Given the description of an element on the screen output the (x, y) to click on. 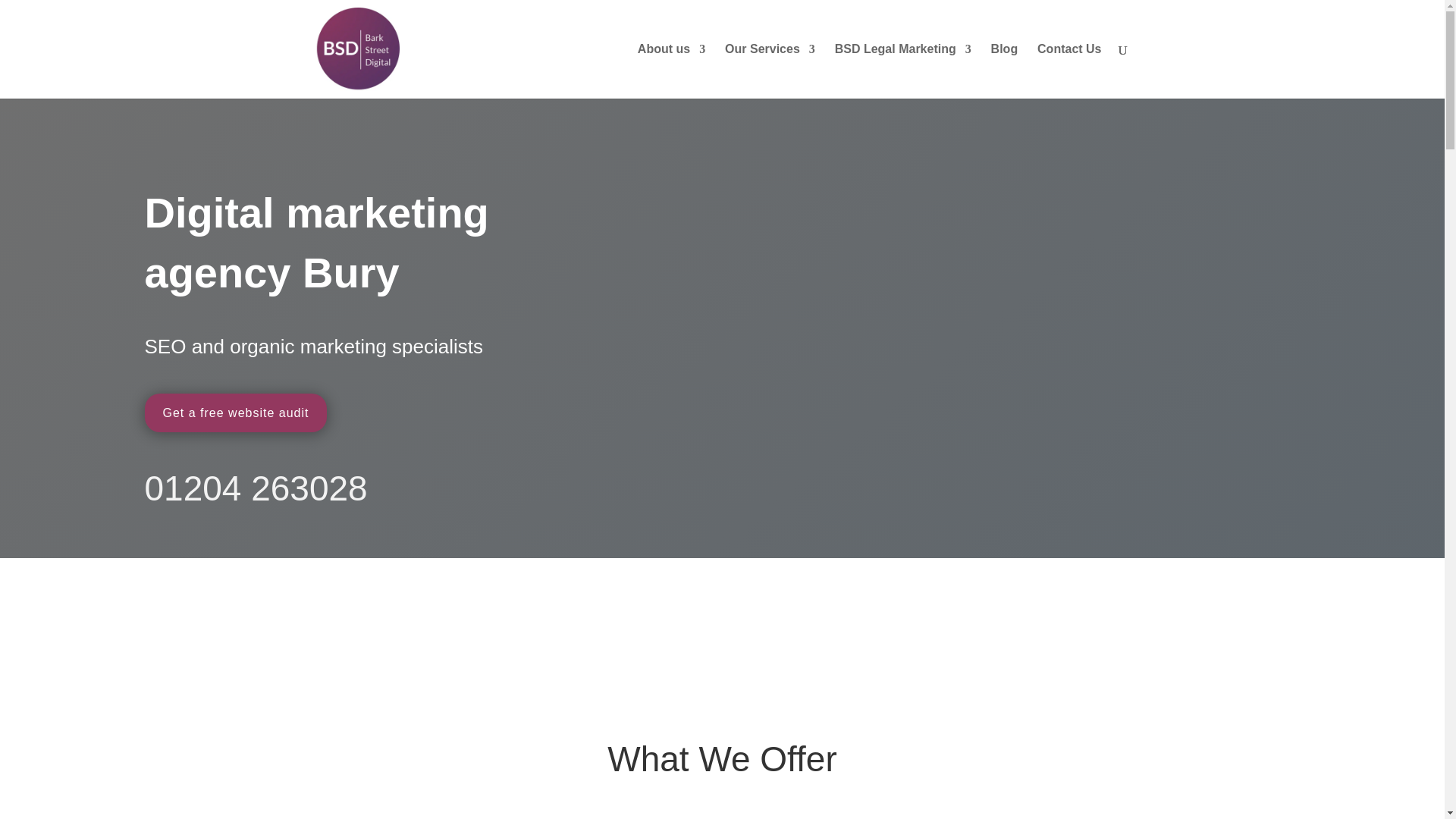
About us (670, 71)
Contact Us (1068, 71)
Get a free website audit (235, 412)
BSD Legal Marketing (902, 71)
Our Services (770, 71)
